Given the description of an element on the screen output the (x, y) to click on. 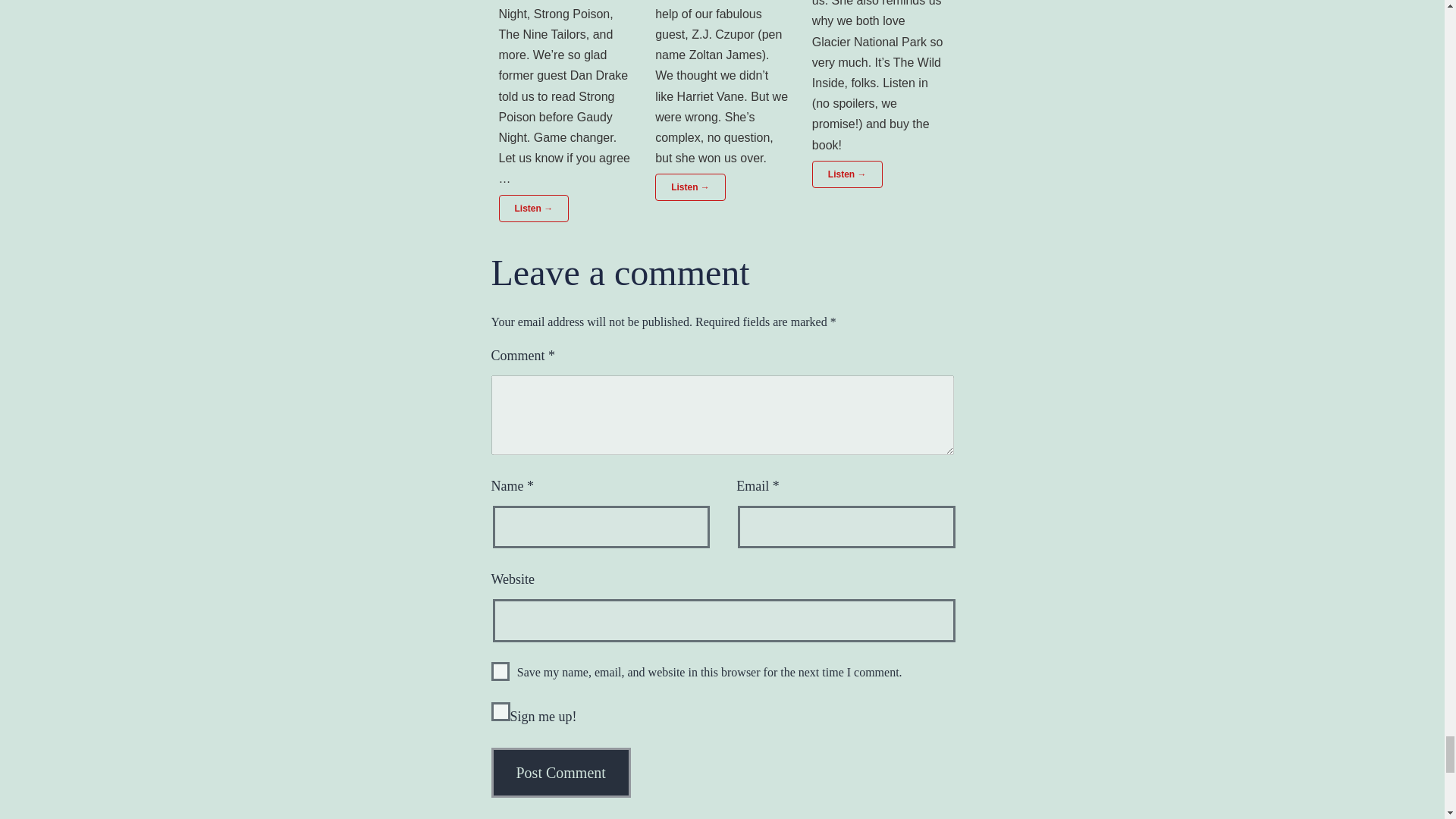
Post Comment (561, 772)
yes (500, 670)
1 (501, 711)
